Given the description of an element on the screen output the (x, y) to click on. 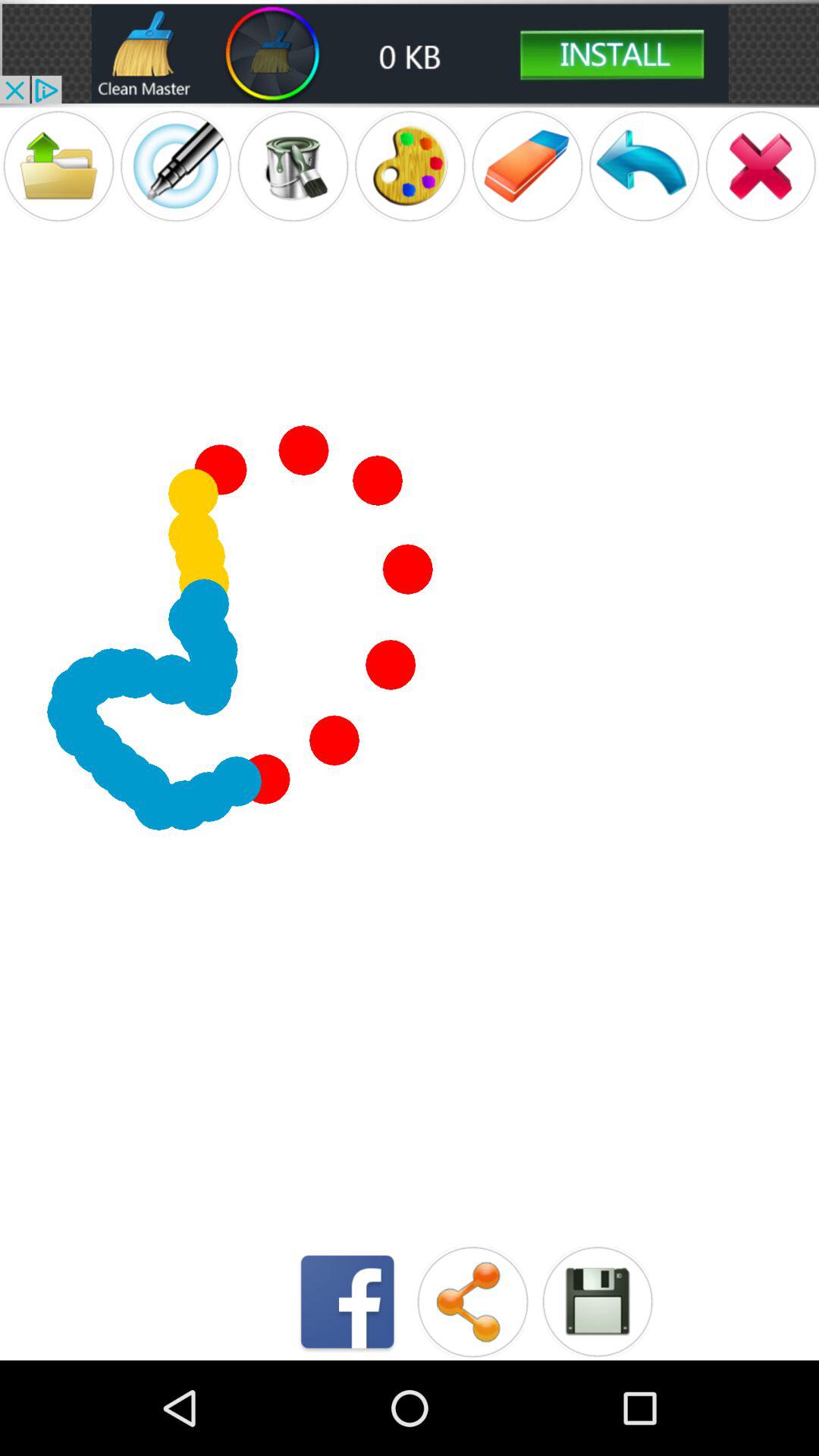
pencil (175, 165)
